Given the description of an element on the screen output the (x, y) to click on. 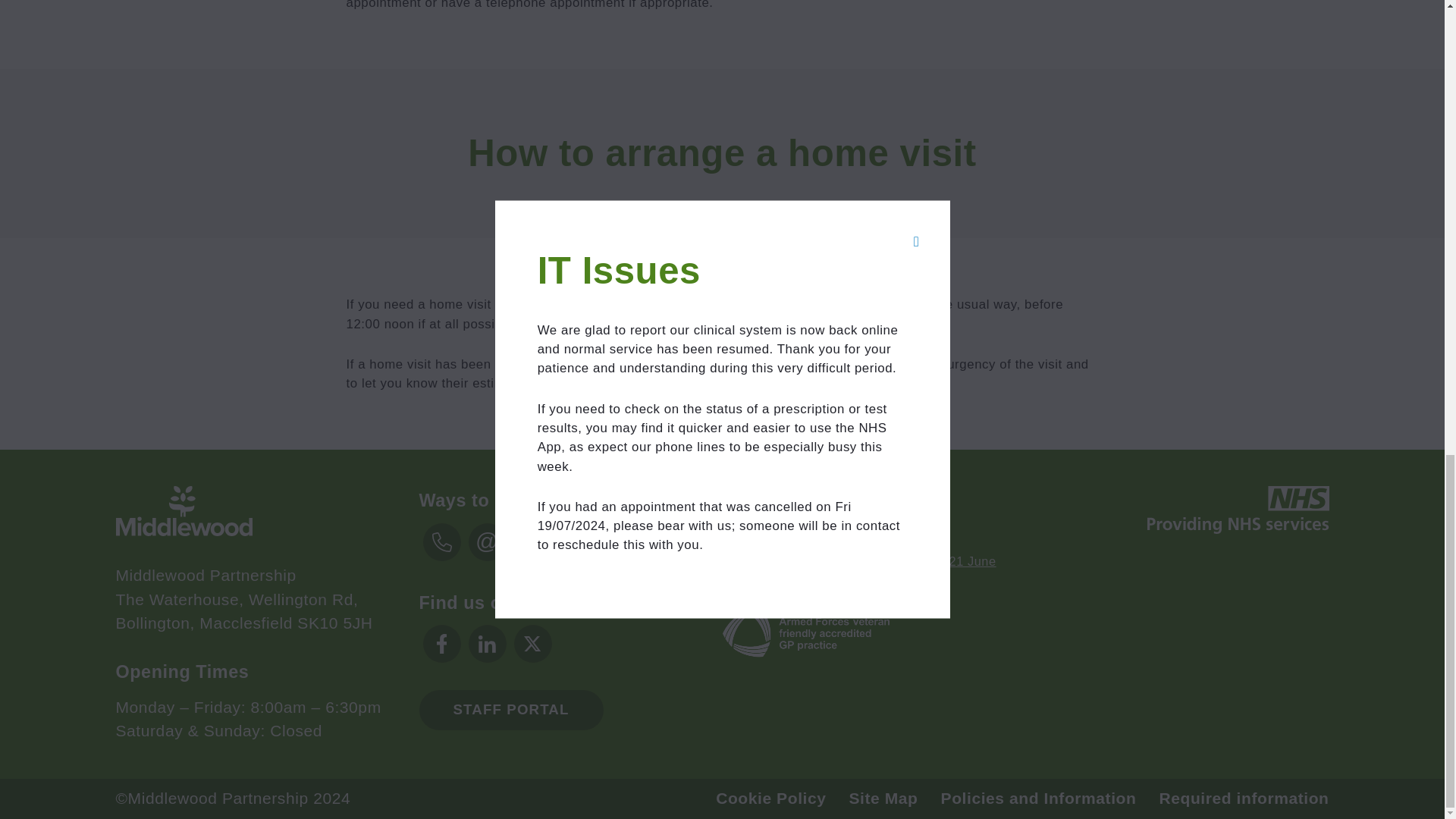
Cookie Policy (770, 797)
STAFF PORTAL (510, 709)
call the surgery (868, 304)
Policies and Information (1038, 797)
Site Map (883, 797)
see report 21 June 2018 (858, 569)
Required information (1242, 797)
